Given the description of an element on the screen output the (x, y) to click on. 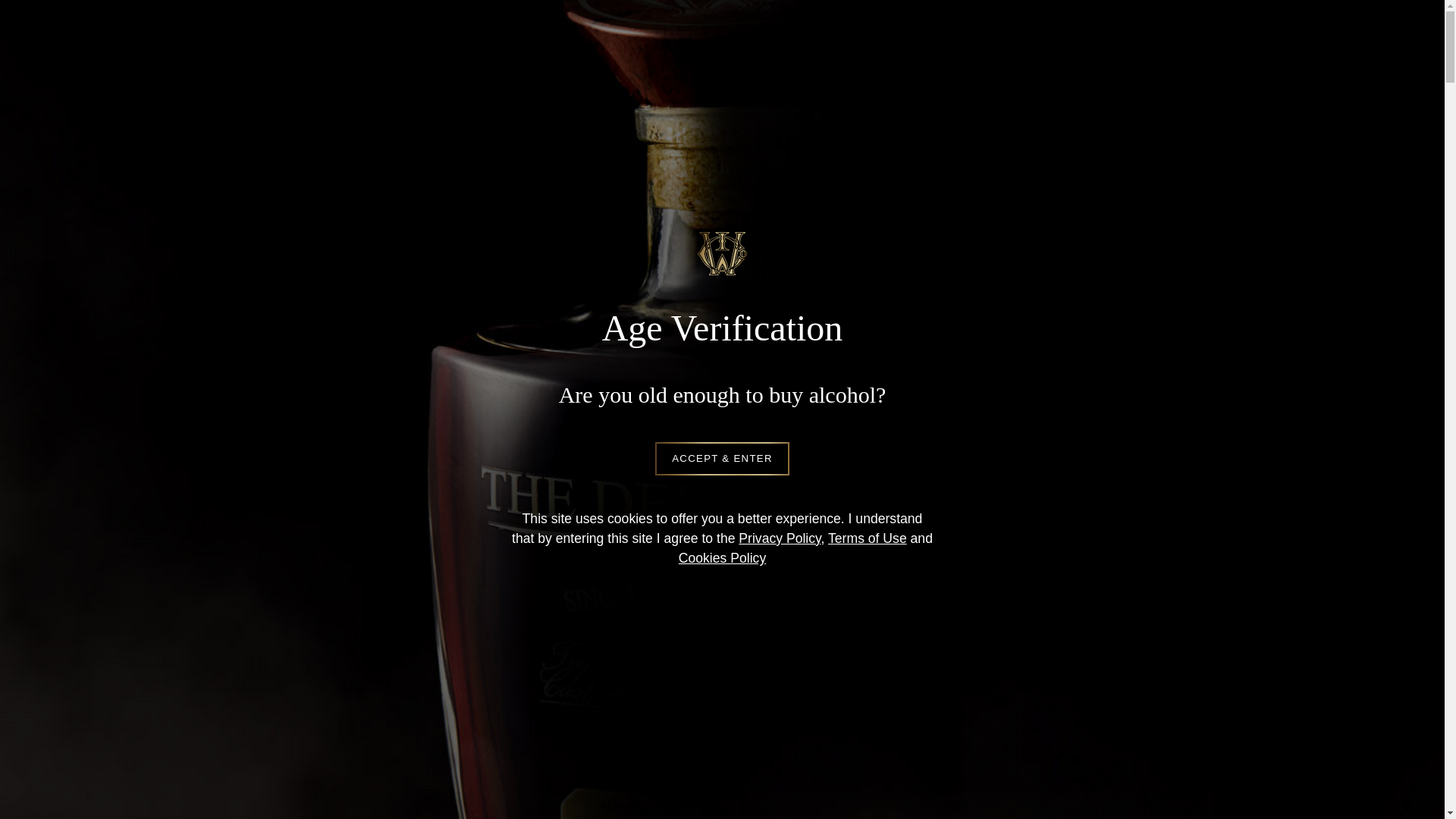
ABOUT US (360, 96)
Cookies Policy (721, 557)
OUR PARTNERS (725, 96)
MENU (1098, 96)
20 Harcourt Street, Dublin (722, 615)
OUR CRAFT (466, 96)
CONTACT (923, 96)
PRESS (832, 96)
Terms of Use (867, 538)
WHISKEY SHOP (589, 96)
Privacy Policy (779, 538)
